Given the description of an element on the screen output the (x, y) to click on. 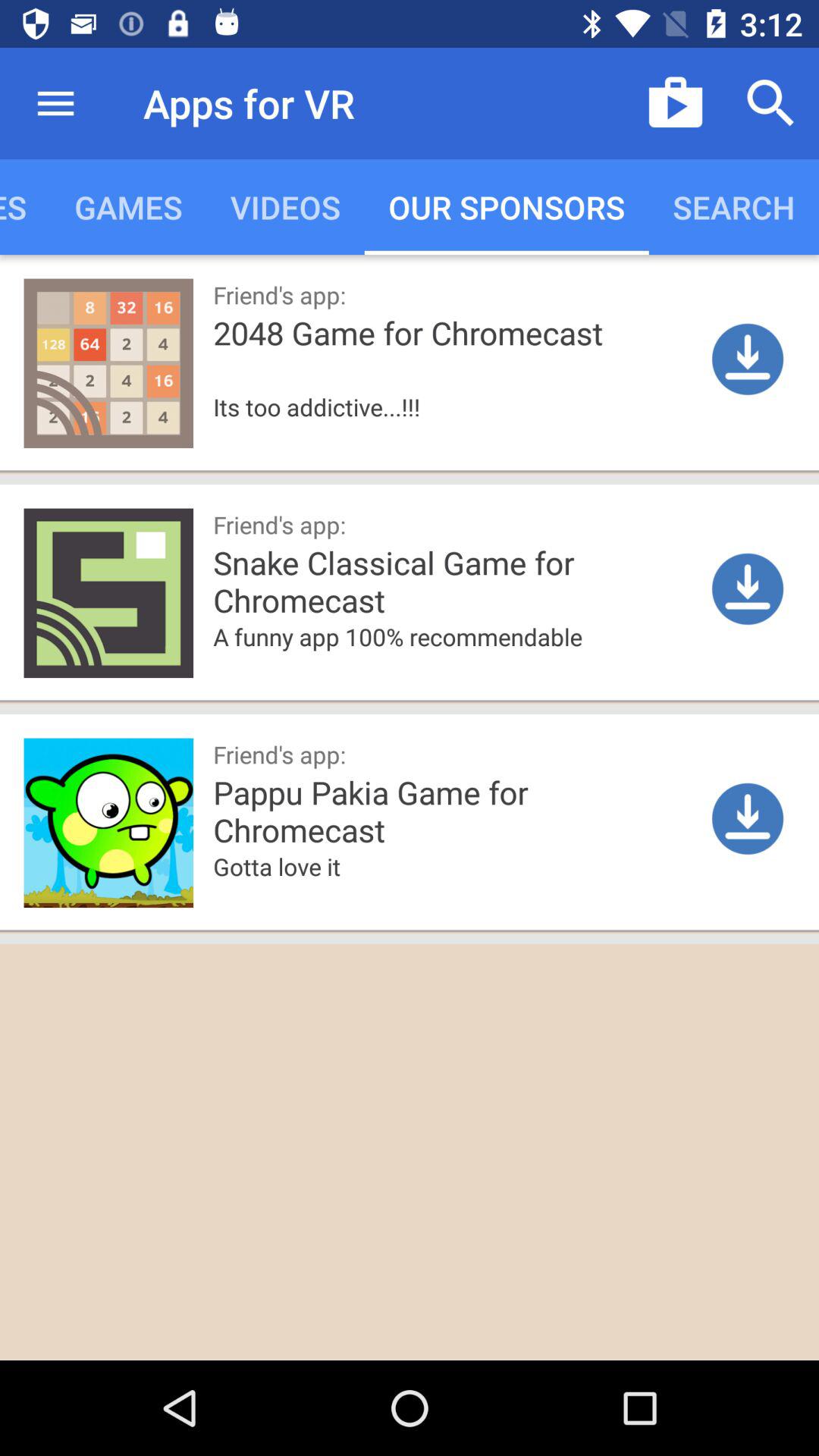
select the icon below 2048 game for icon (376, 430)
